Given the description of an element on the screen output the (x, y) to click on. 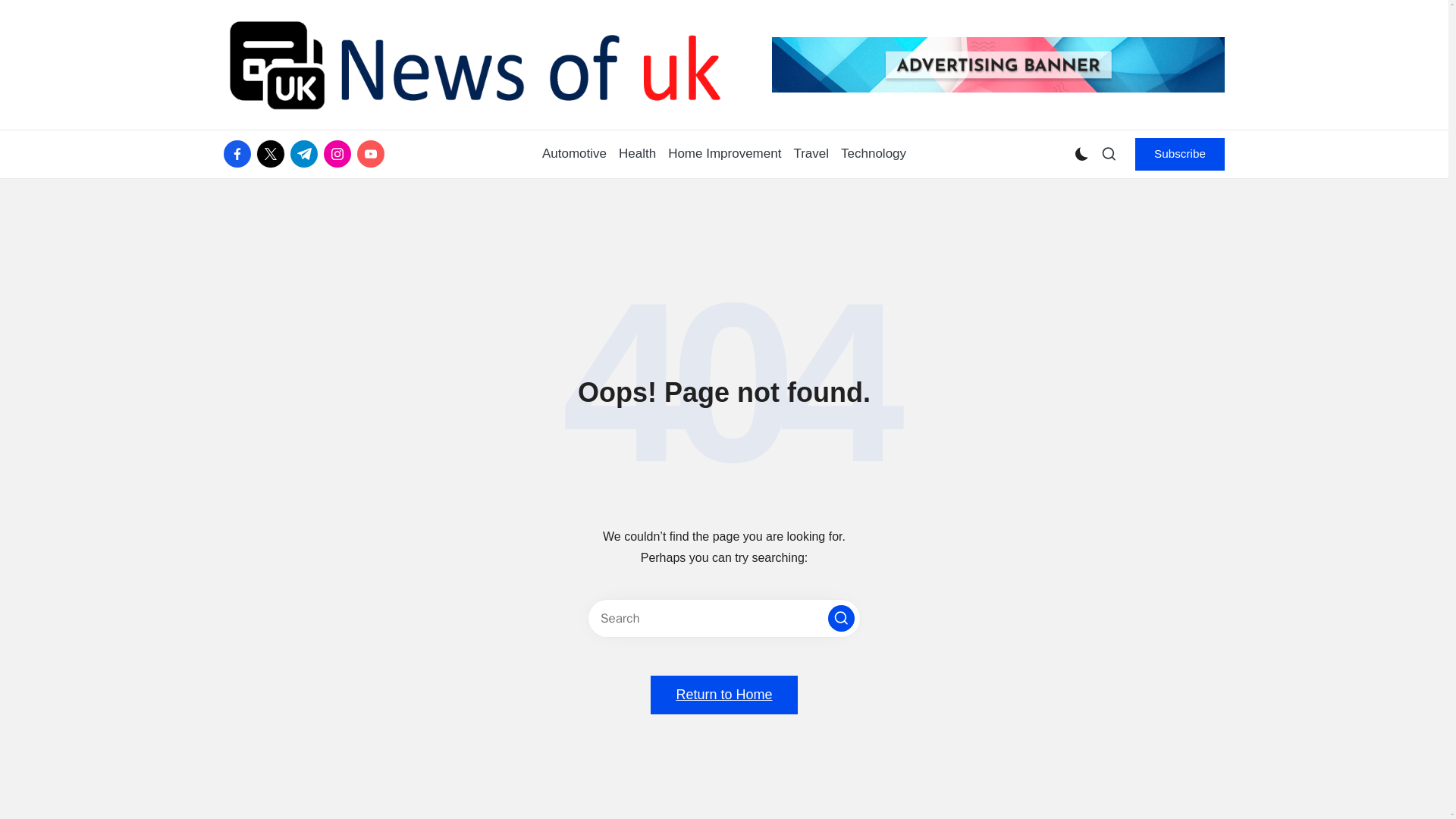
twitter.com (273, 153)
instagram.com (339, 153)
Health (637, 153)
Automotive (574, 153)
facebook.com (240, 153)
Return to Home (723, 694)
Home Improvement (724, 153)
Technology (873, 153)
Subscribe (1179, 153)
youtube.com (373, 153)
t.me (306, 153)
